Given the description of an element on the screen output the (x, y) to click on. 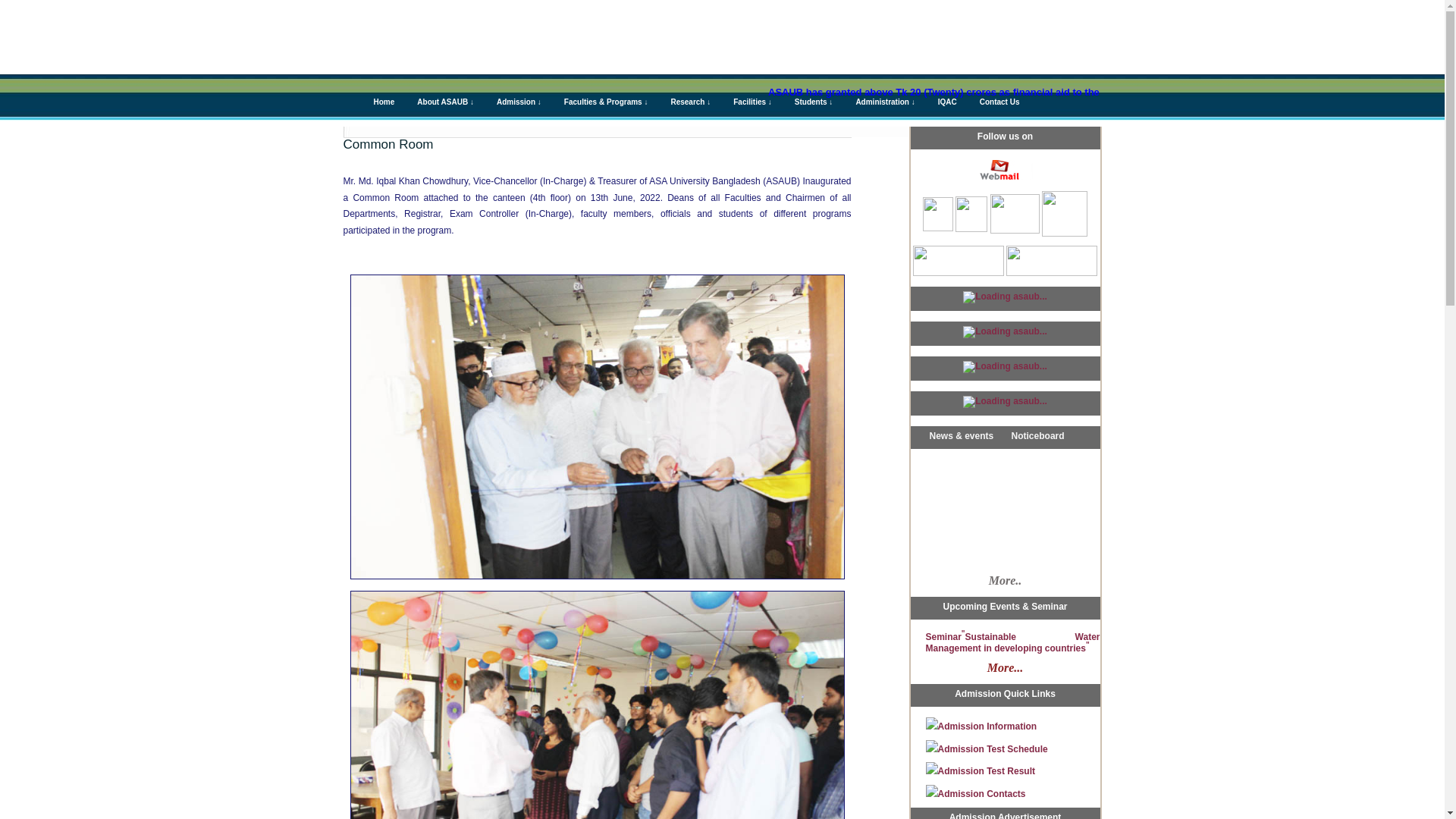
Invitation for tender   Element type: text (954, 324)
Admission Test Result Element type: text (979, 770)
More.. Element type: text (1005, 581)
Home Element type: text (375, 100)
IQAC Element type: text (939, 100)
Admission Test Schedule Element type: text (986, 748)
Admission Contacts Element type: text (975, 793)
More... Element type: text (1005, 668)
Admission Information Element type: text (980, 726)
News & events Element type: text (961, 435)
Career Opportunities   Element type: text (957, 352)
Wear Identity Cards   Element type: text (954, 436)
Contact Us Element type: text (992, 100)
Noticeboard Element type: text (1037, 435)
